Given the description of an element on the screen output the (x, y) to click on. 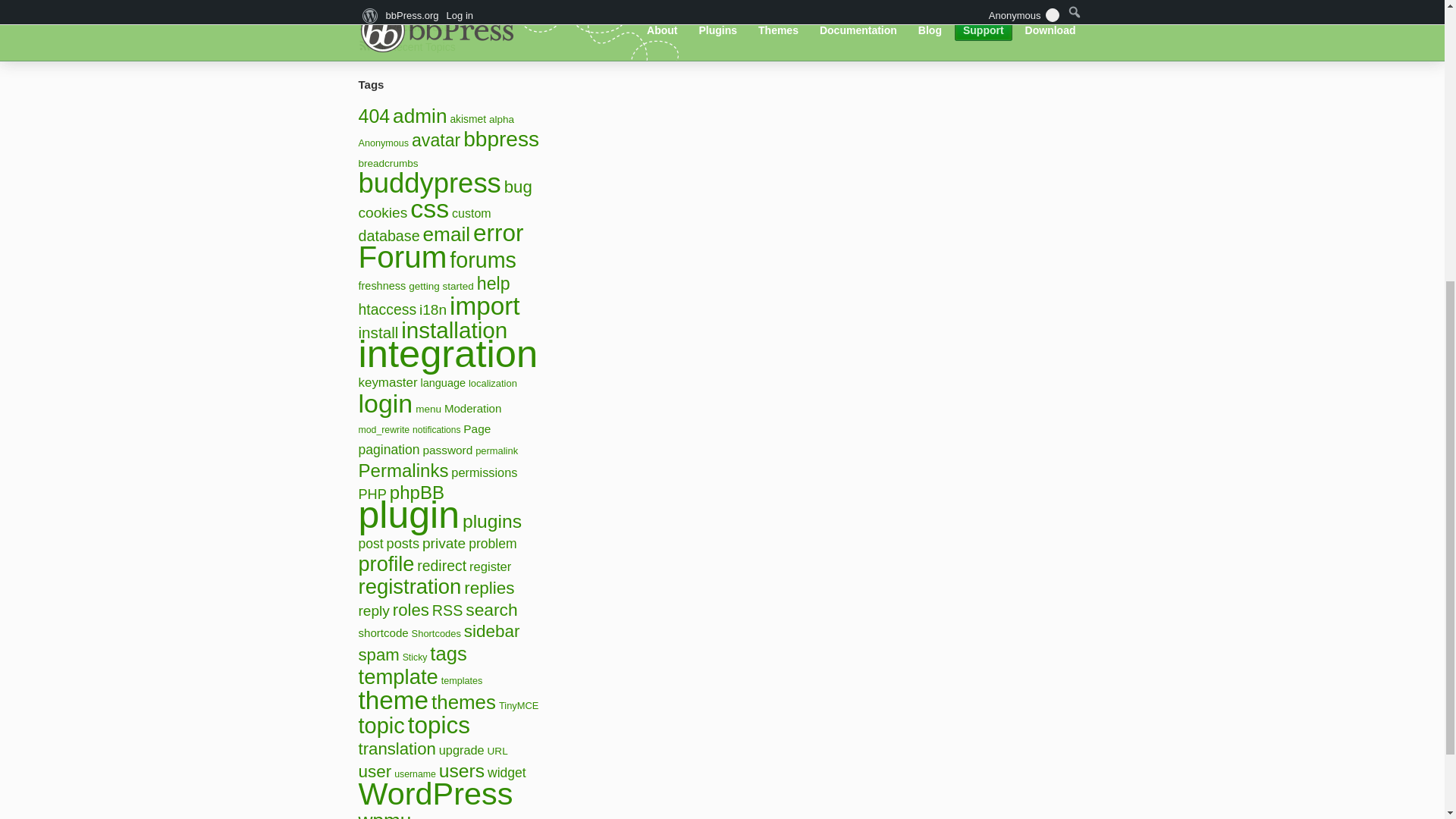
bbpress (500, 138)
All Recent Posts (413, 27)
buddypress (429, 183)
avatar (436, 139)
Anonymous (383, 143)
akismet (467, 119)
breadcrumbs (387, 163)
alpha (501, 119)
cookies (382, 212)
404 (374, 115)
